Given the description of an element on the screen output the (x, y) to click on. 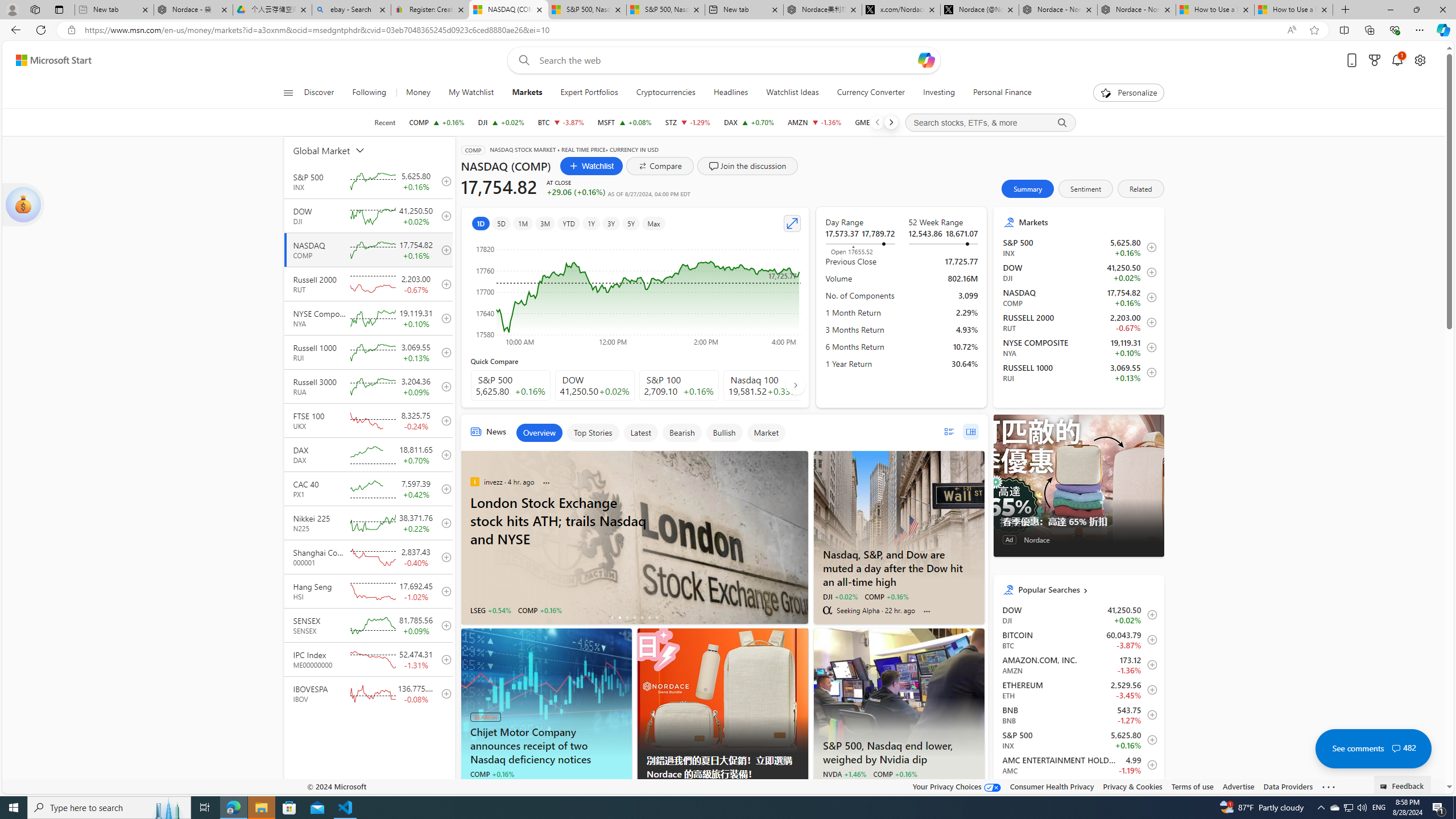
Top Stories (592, 432)
MSFT MICROSOFT CORPORATION increase 413.84 +0.35 +0.08% (623, 122)
S&P 500, Nasdaq end lower, weighed by Nvidia dip - Reuters (898, 750)
Market (765, 432)
Class: notInWatclistIcon-DS-EntryPoint1-6 lightTheme (1148, 790)
Privacy & Cookies (1131, 786)
Class: notInWatclistIcon-DS-EntryPoint1-5 lightTheme (1148, 372)
Personalize (1128, 92)
invezz (474, 481)
1Y (590, 223)
